Given the description of an element on the screen output the (x, y) to click on. 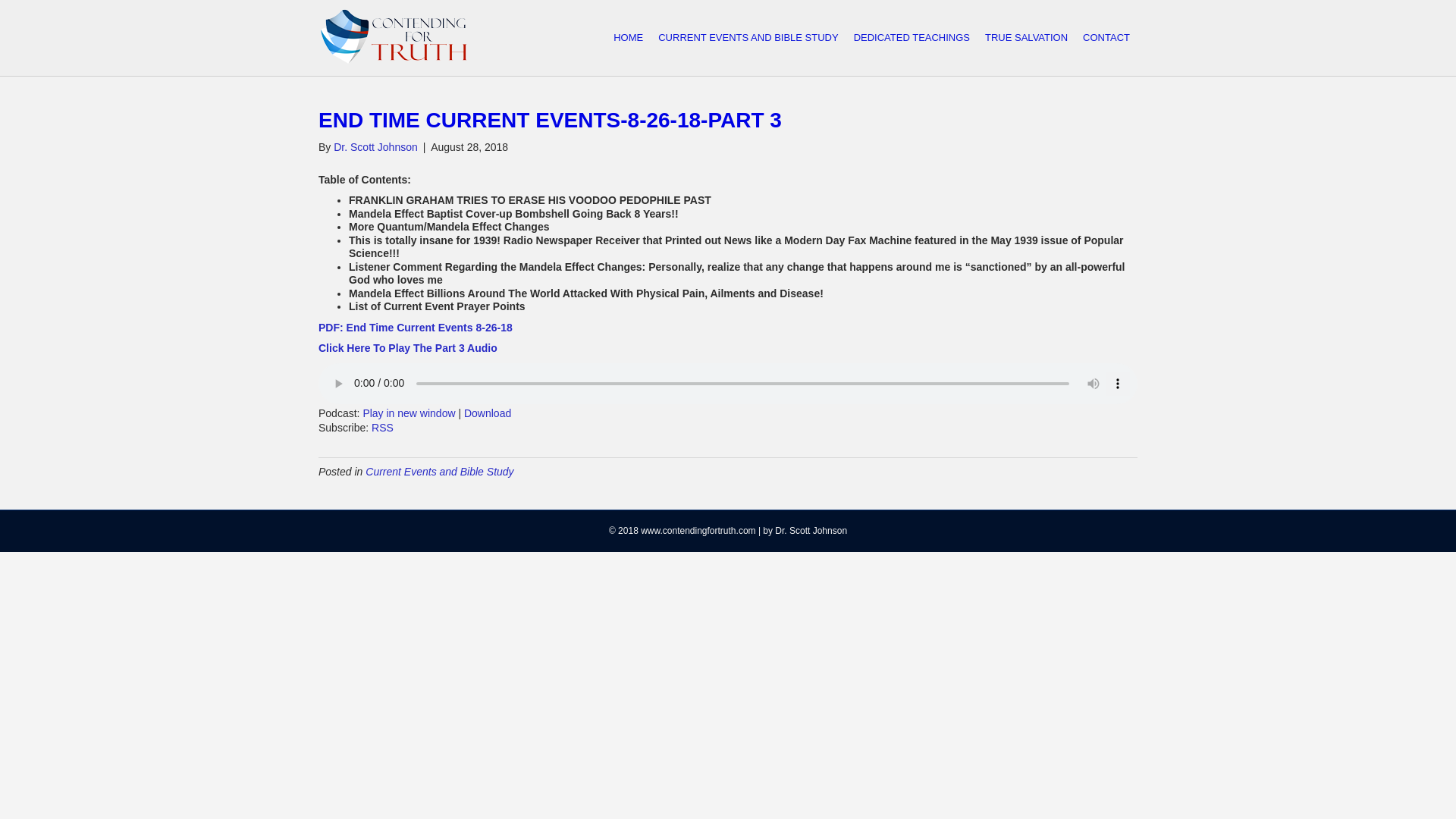
Click Here To Play The Part 3 Audio (407, 347)
DEDICATED TEACHINGS (910, 37)
CURRENT EVENTS AND BIBLE STUDY (747, 37)
HOME (627, 37)
Play in new window (408, 413)
RSS (382, 427)
TRUE SALVATION (1025, 37)
Dr. Scott Johnson (375, 146)
Subscribe via RSS (382, 427)
Play in new window (408, 413)
